Given the description of an element on the screen output the (x, y) to click on. 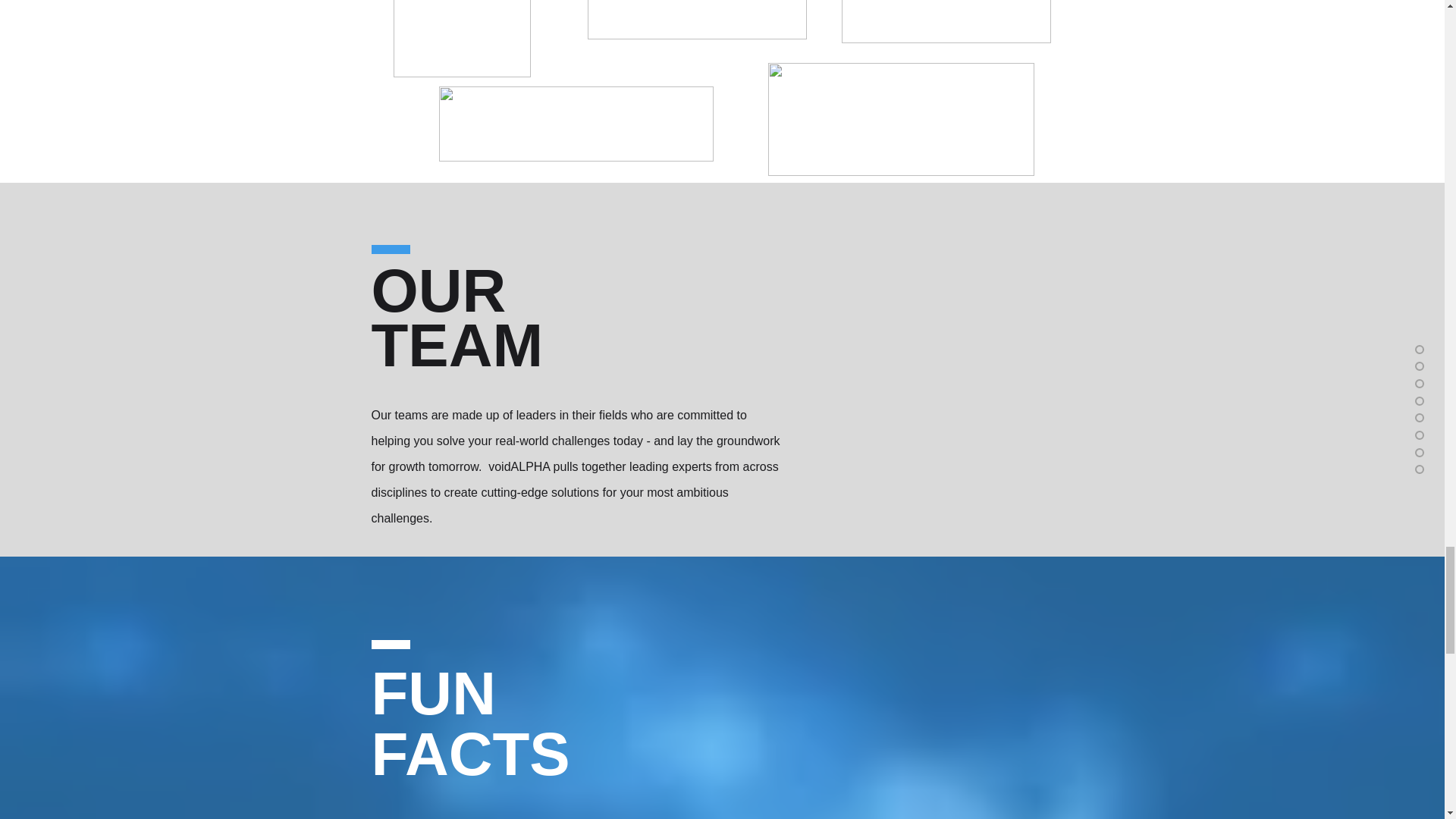
TwitchLogo.png (900, 119)
galois logo.png (696, 19)
Disney-Interactive-Logo.png (461, 38)
